Given the description of an element on the screen output the (x, y) to click on. 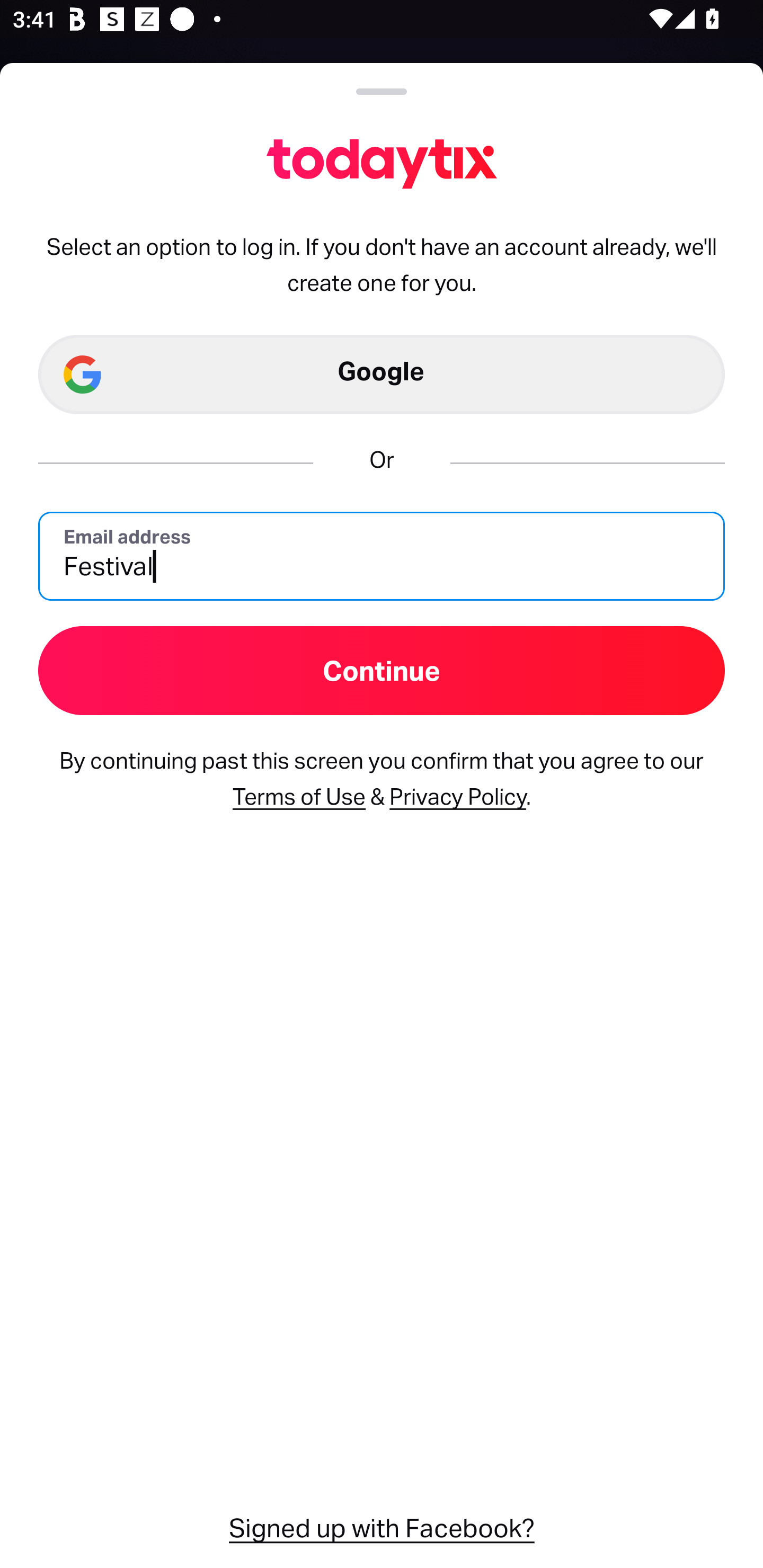
Google (381, 374)
Festival Email address (381, 555)
Continue (381, 670)
Signed up with Facebook? (381, 1526)
